Given the description of an element on the screen output the (x, y) to click on. 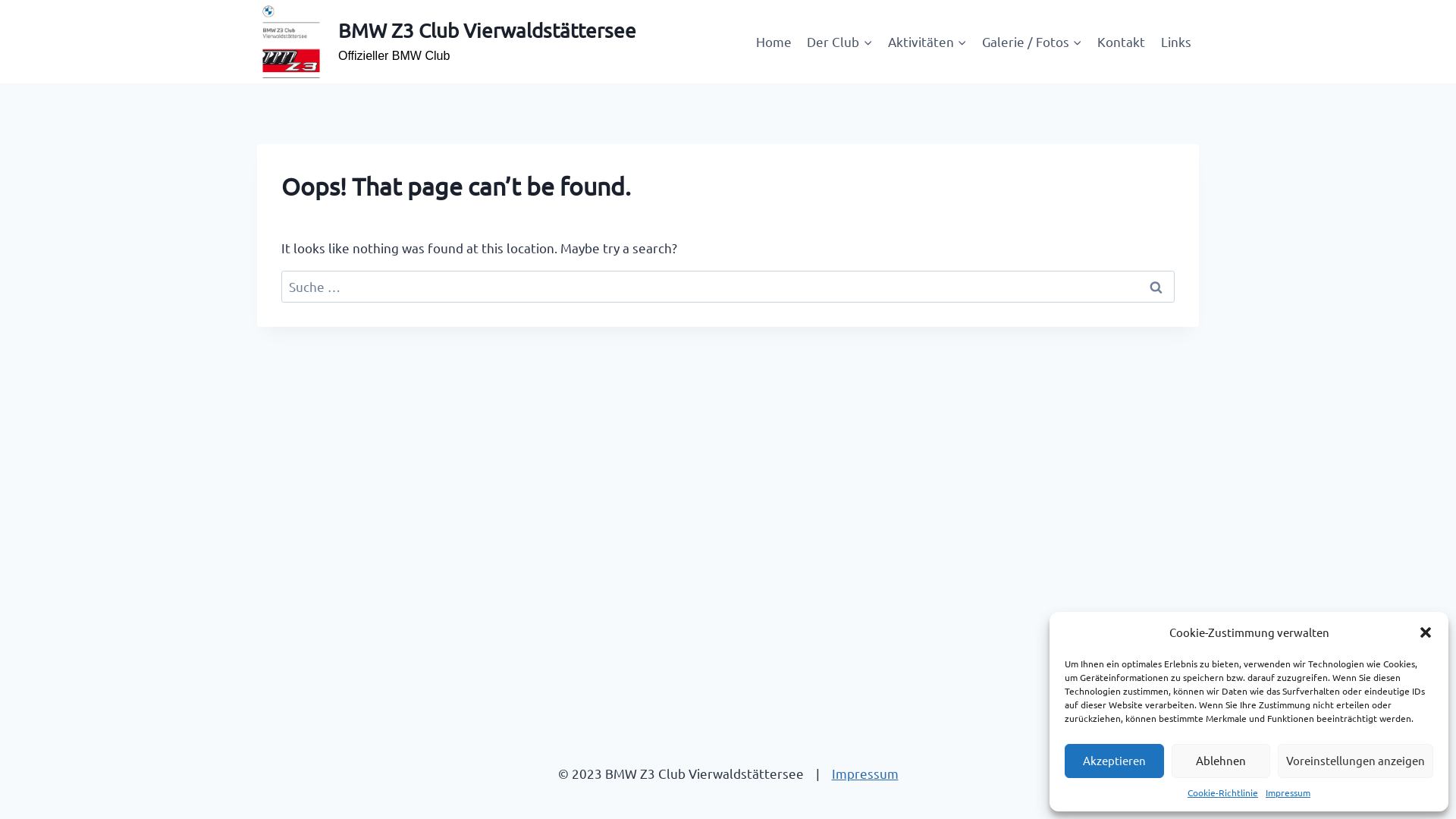
Ablehnen Element type: text (1220, 760)
Voreinstellungen anzeigen Element type: text (1355, 760)
Impressum Element type: text (864, 773)
Suche Element type: text (1155, 286)
Der Club Element type: text (839, 41)
Akzeptieren Element type: text (1114, 760)
Kontakt Element type: text (1120, 41)
Impressum Element type: text (1287, 792)
Galerie / Fotos Element type: text (1031, 41)
Links Element type: text (1175, 41)
Cookie-Richtlinie Element type: text (1222, 792)
Home Element type: text (773, 41)
